Given the description of an element on the screen output the (x, y) to click on. 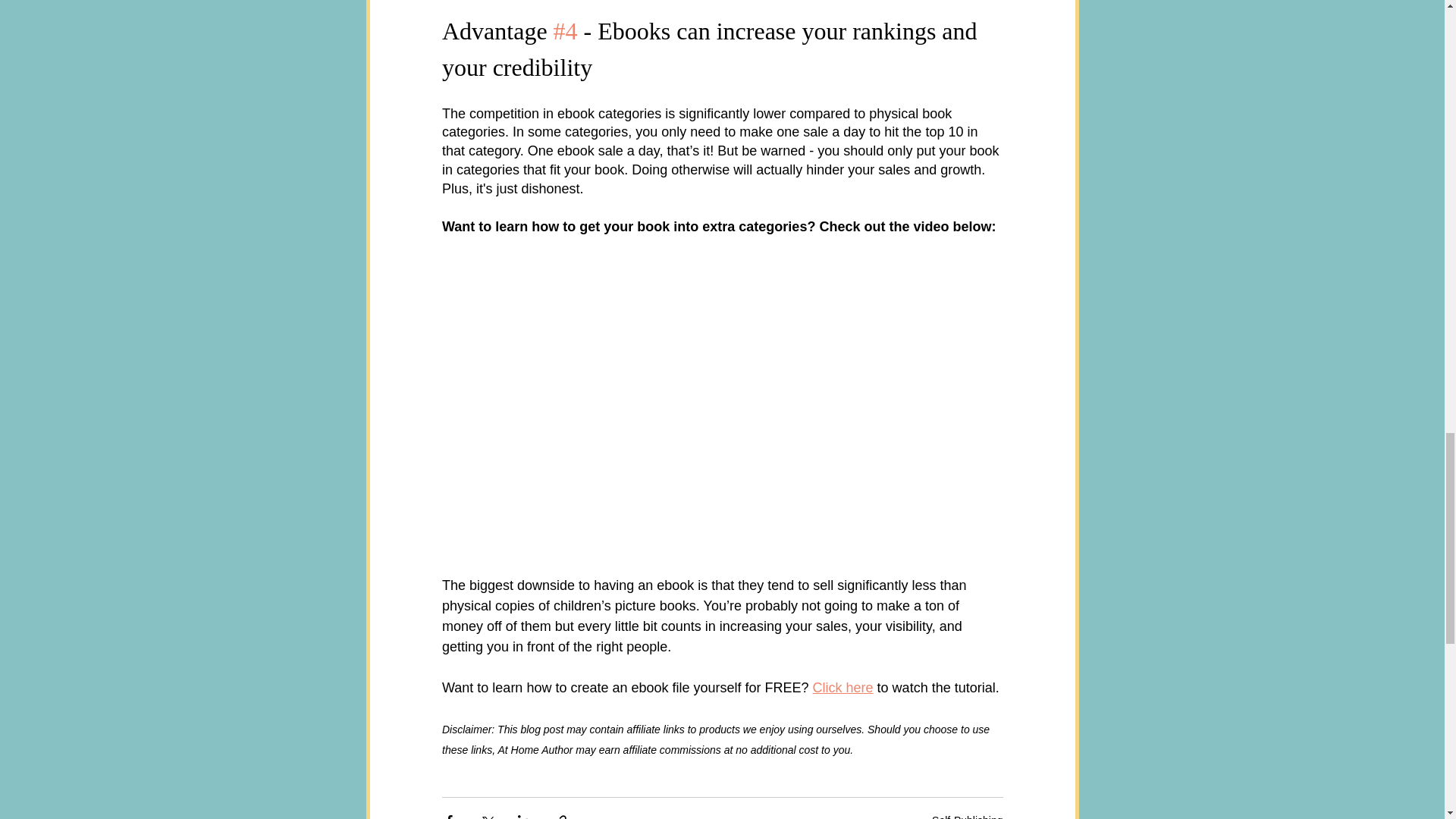
Click here (842, 686)
